Given the description of an element on the screen output the (x, y) to click on. 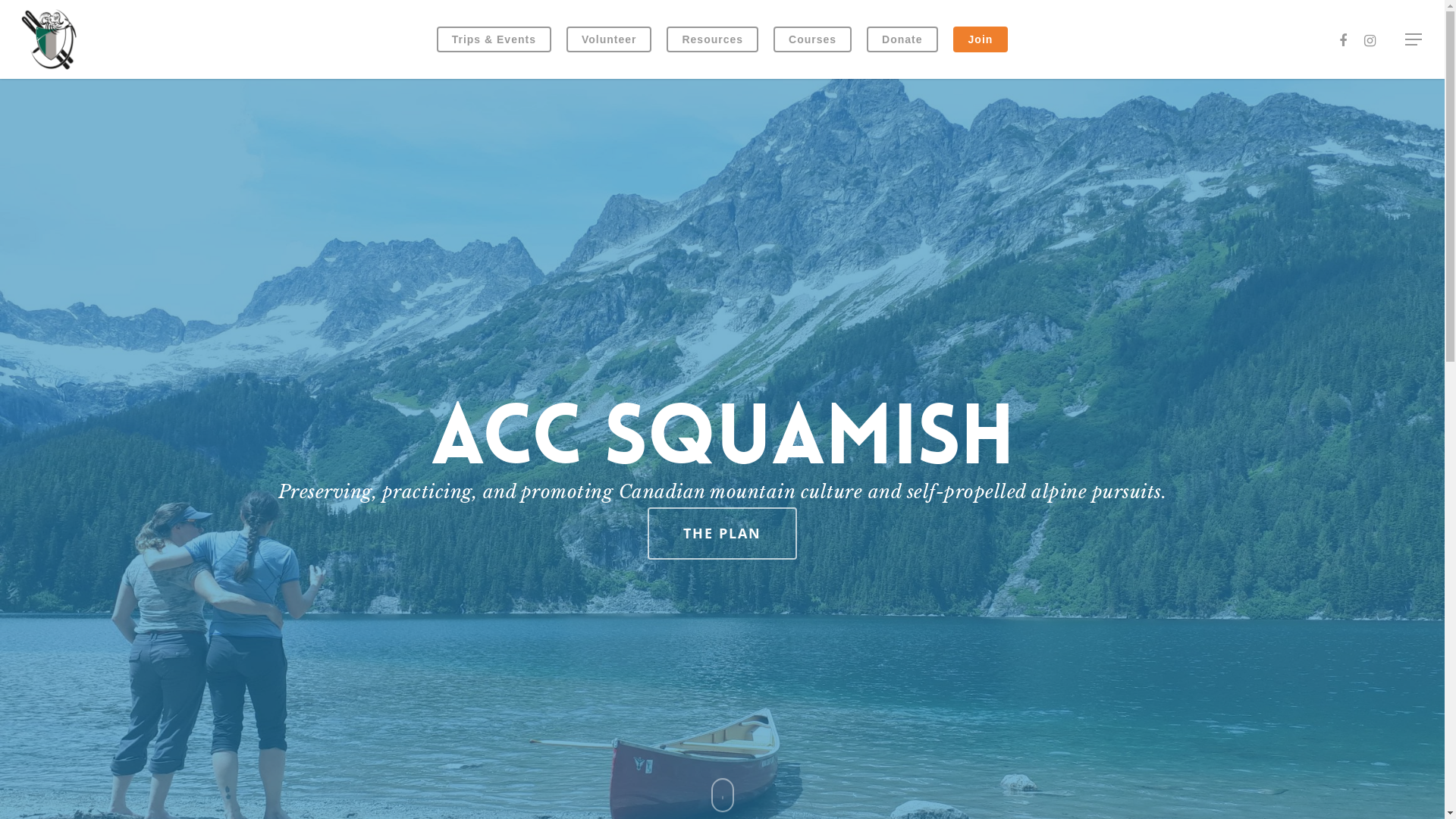
Volunteer Element type: text (609, 39)
Donate Element type: text (901, 39)
THE PLAN Element type: text (722, 533)
Join Element type: text (980, 39)
Courses Element type: text (812, 39)
Trips & Events Element type: text (493, 39)
Resources Element type: text (712, 39)
